Given the description of an element on the screen output the (x, y) to click on. 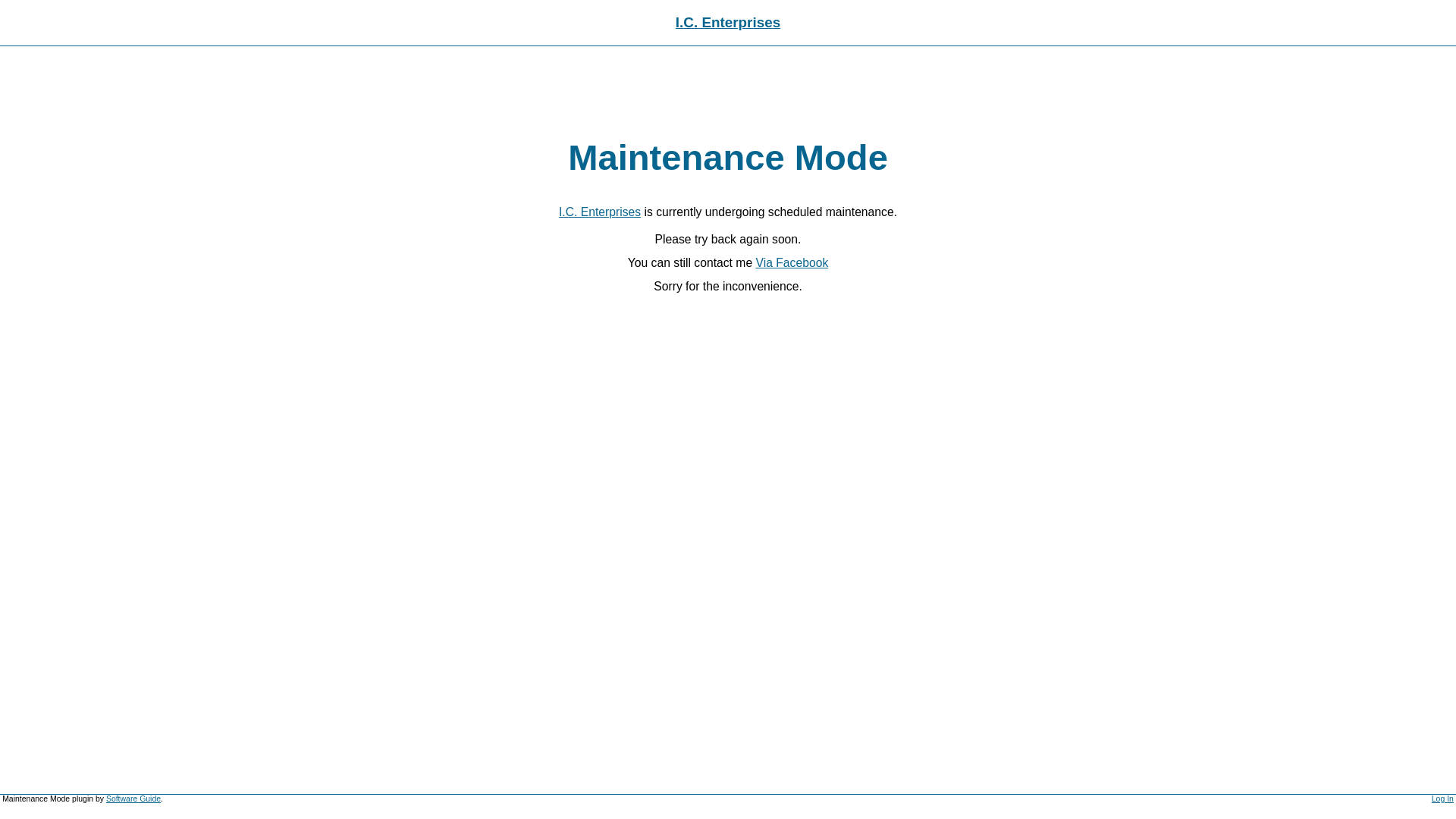
Software Guide Element type: text (133, 798)
Log In Element type: text (1442, 798)
I.C. Enterprises Element type: text (599, 211)
Via Facebook Element type: text (791, 262)
I.C. Enterprises Element type: text (727, 22)
